Given the description of an element on the screen output the (x, y) to click on. 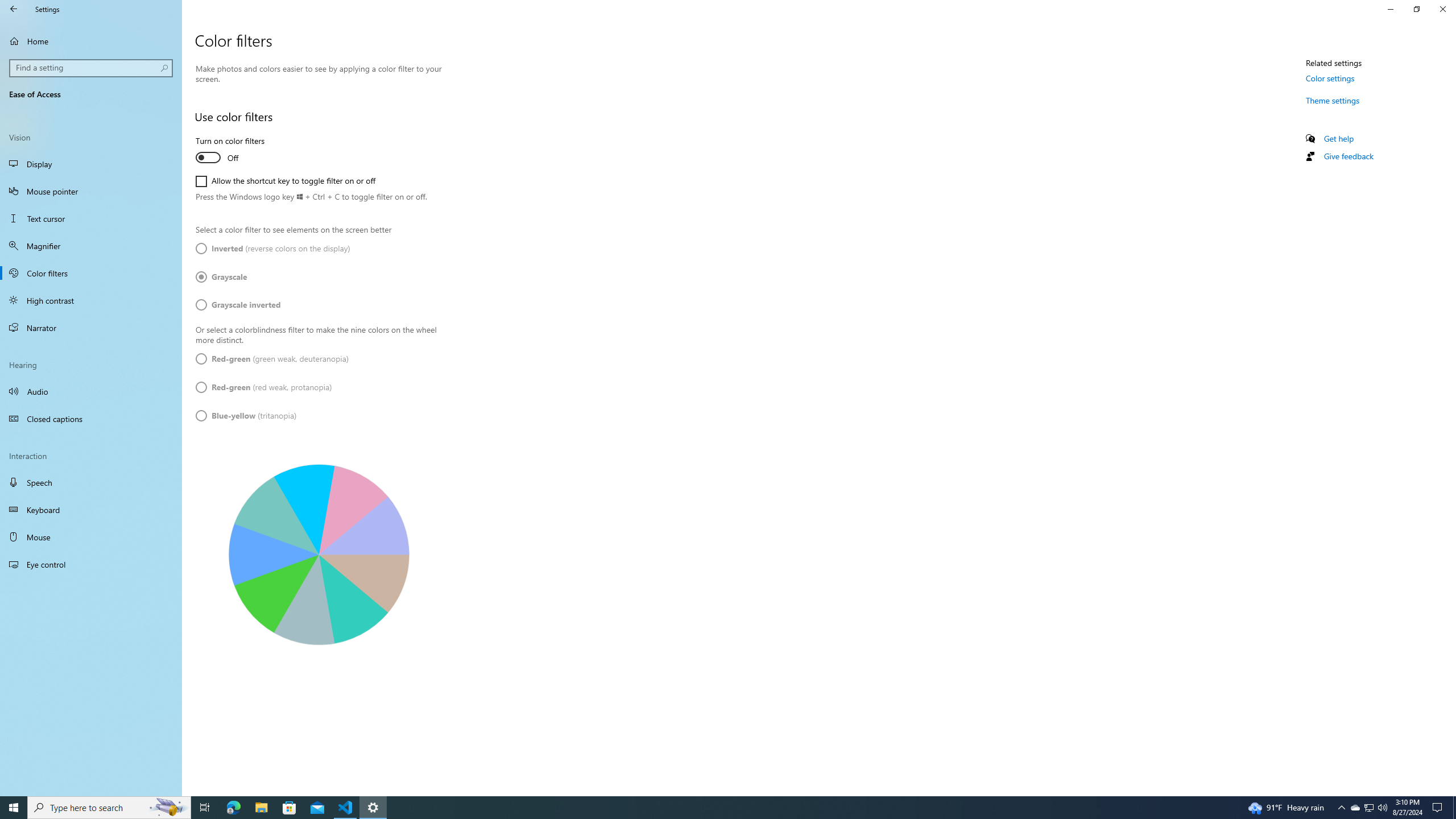
Home (91, 40)
Show desktop (1454, 807)
Restore Settings (1416, 9)
Visual Studio Code - 1 running window (345, 807)
Give feedback (1348, 155)
Red-green (green weak, deuteranopia) (272, 358)
